Given the description of an element on the screen output the (x, y) to click on. 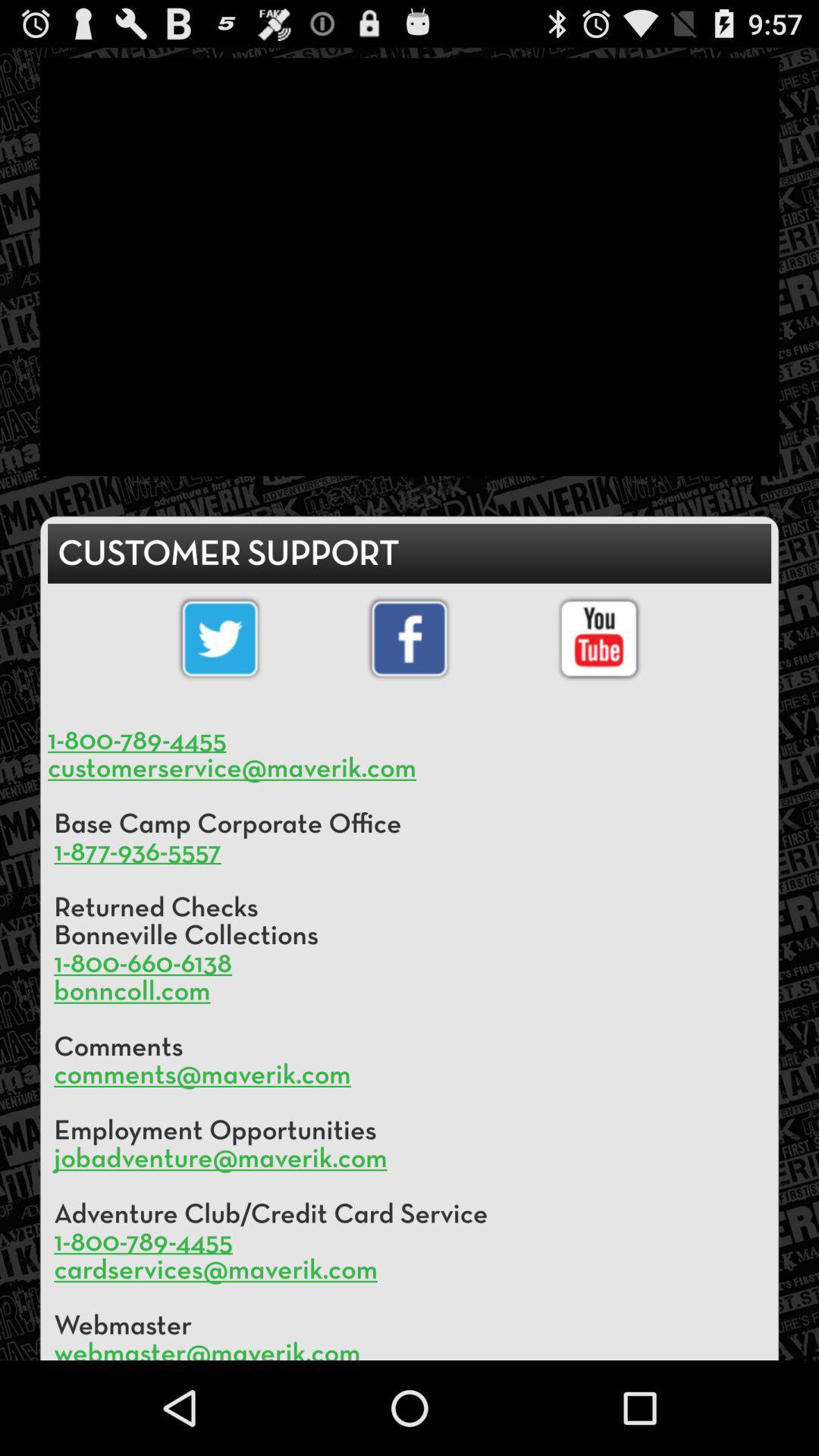
go to youtube (598, 638)
